Given the description of an element on the screen output the (x, y) to click on. 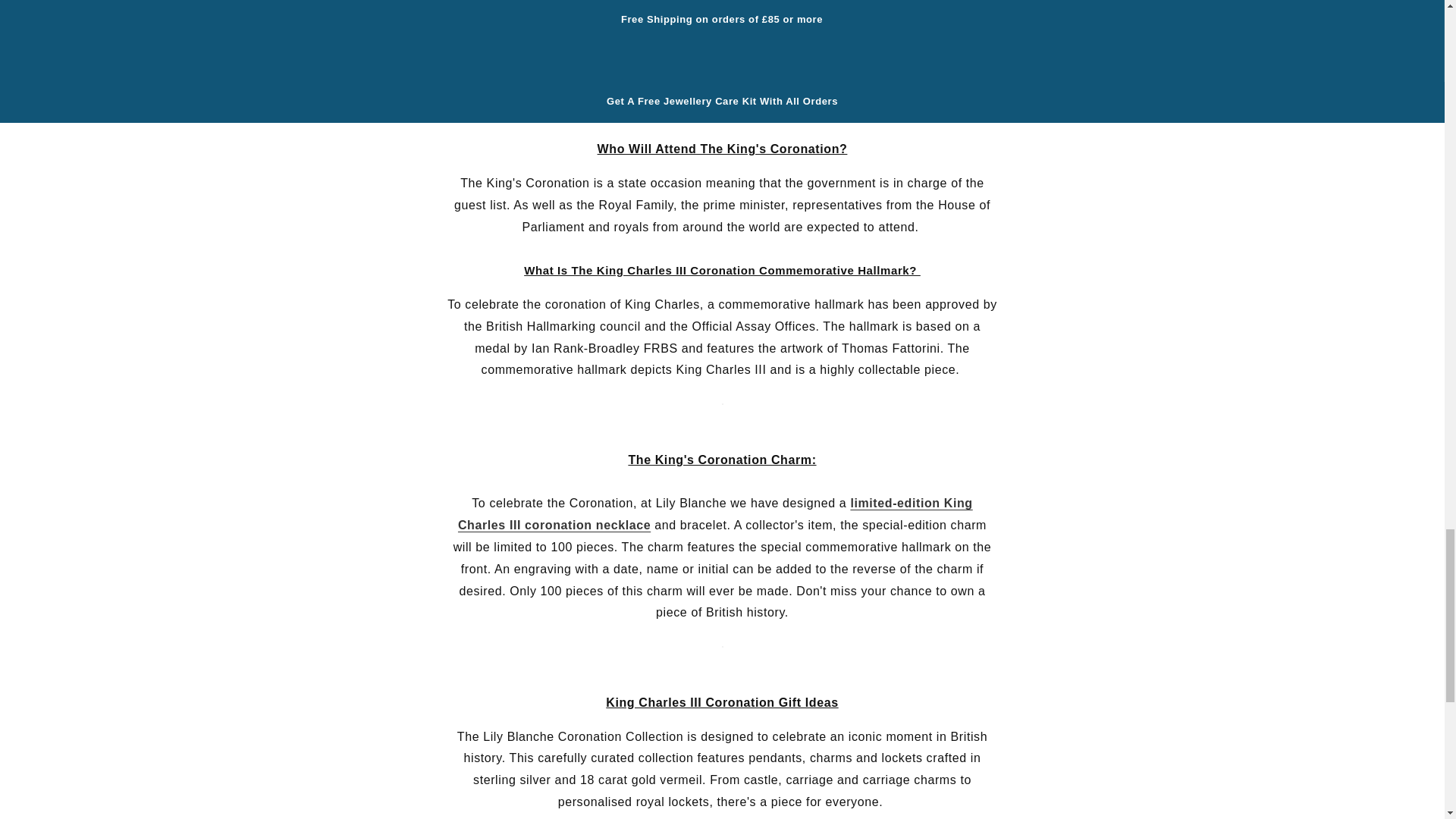
red, white and blue royal charms (722, 58)
